Given the description of an element on the screen output the (x, y) to click on. 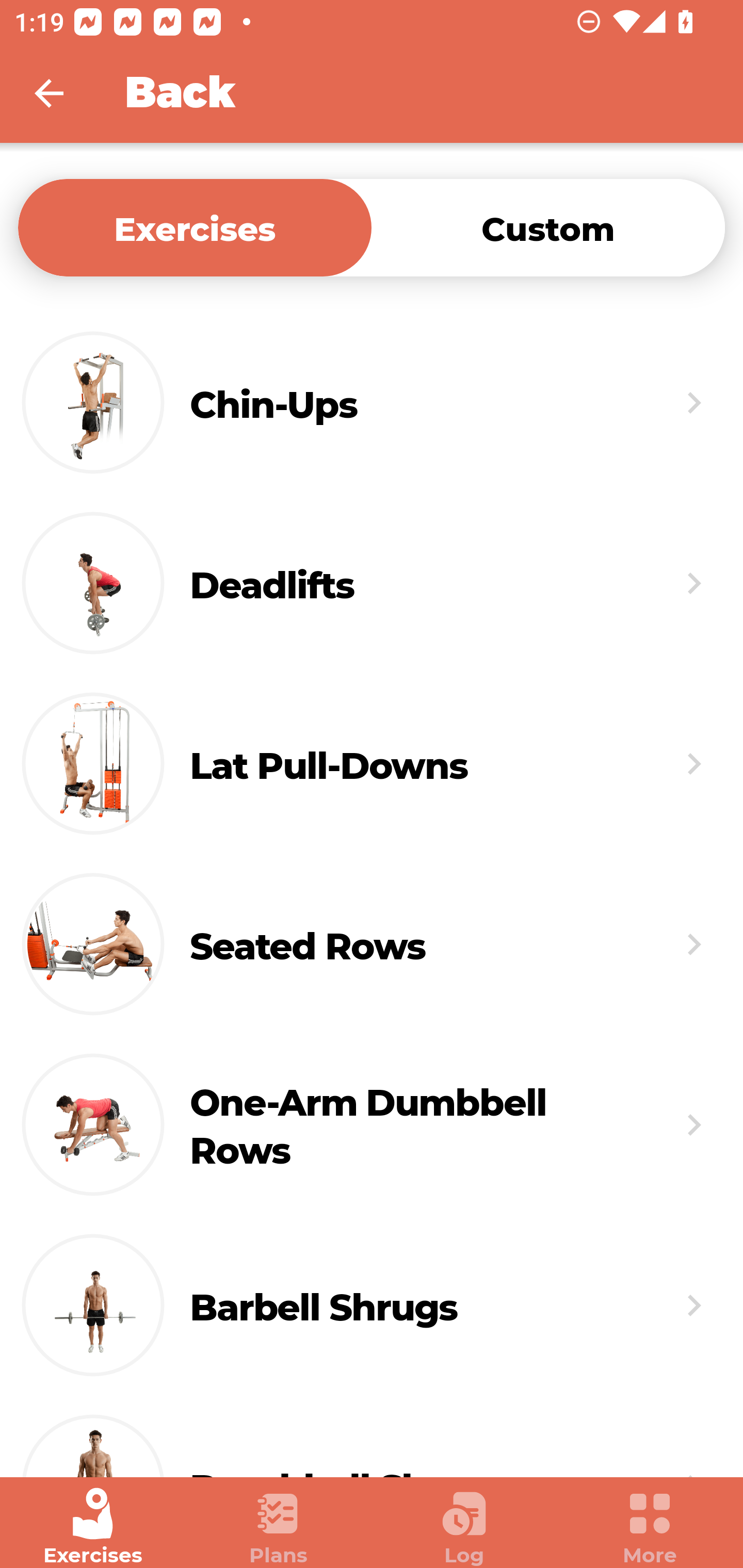
Back (62, 92)
Exercises (194, 226)
Custom (548, 226)
Exercises (92, 1527)
Plans (278, 1527)
Log (464, 1527)
More (650, 1527)
